Given the description of an element on the screen output the (x, y) to click on. 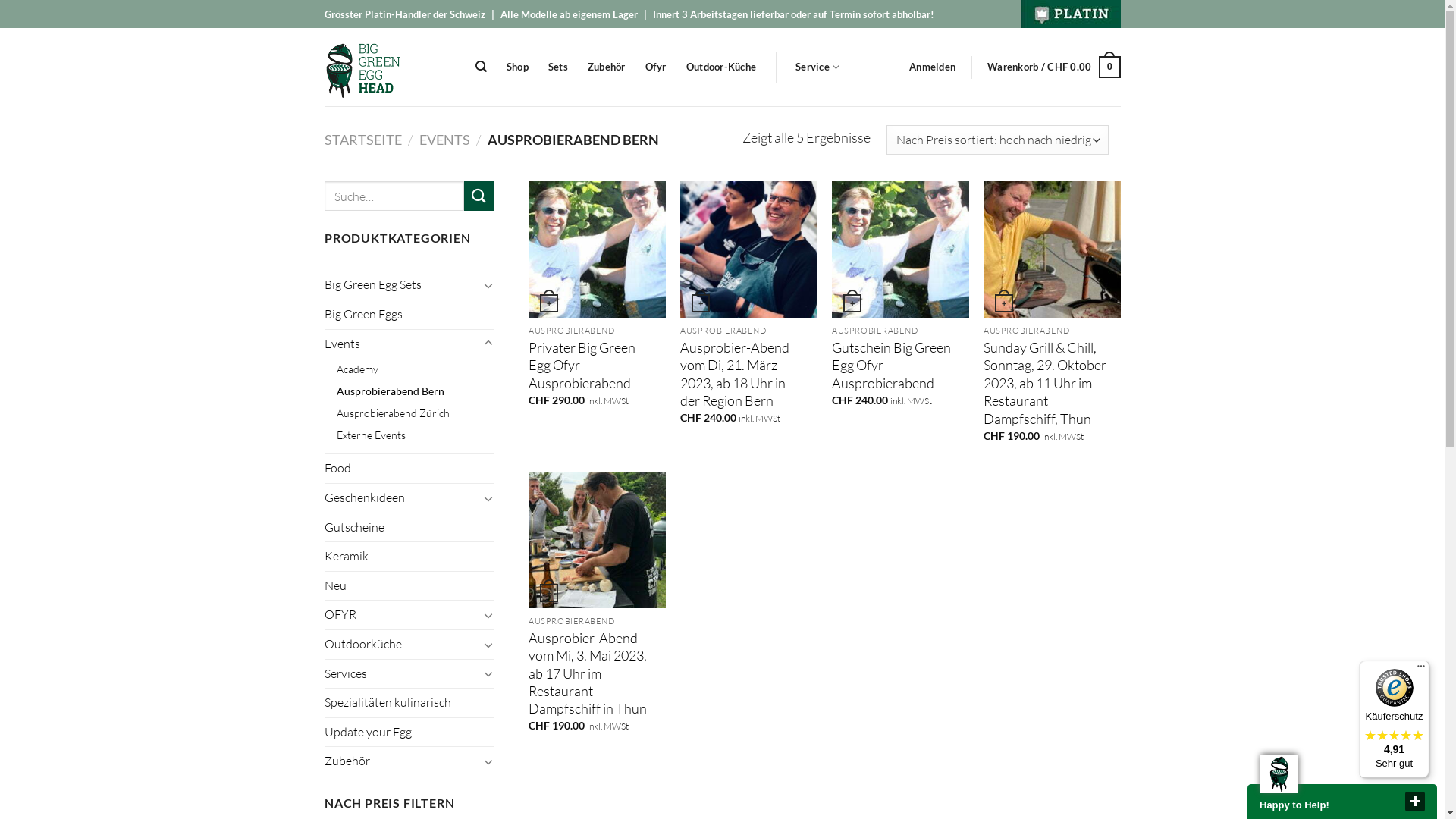
Food Element type: text (409, 468)
Ofyr Element type: text (655, 66)
Externe Events Element type: text (370, 434)
Suche Element type: text (478, 195)
Service Element type: text (817, 66)
Big Green Egg Sets Element type: text (401, 284)
Warenkorb / CHF 0.00
0 Element type: text (1053, 67)
Ausprobierabend Bern Element type: text (390, 390)
Update your Egg Element type: text (409, 732)
Keramik Element type: text (409, 556)
close Element type: text (1414, 801)
Services Element type: text (401, 672)
OFYR Element type: text (401, 614)
STARTSEITE Element type: text (362, 139)
Big Green Eggs Element type: text (409, 314)
Events Element type: text (401, 343)
EVENTS Element type: text (444, 139)
Geschenkideen Element type: text (401, 497)
Sets Element type: text (557, 66)
Neu Element type: text (409, 585)
Gutschein Big Green Egg Ofyr Ausprobierabend Element type: text (892, 365)
Gutscheine Element type: text (409, 526)
Anmelden Element type: text (932, 66)
Privater Big Green Egg Ofyr Ausprobierabend Element type: text (589, 365)
Shop Element type: text (517, 66)
Academy Element type: text (357, 368)
